Given the description of an element on the screen output the (x, y) to click on. 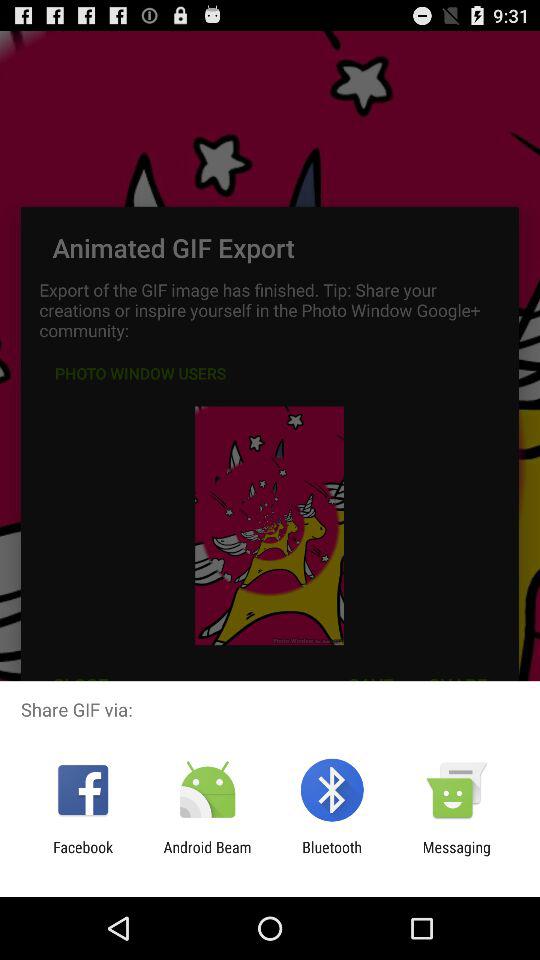
click the item to the right of the bluetooth (456, 856)
